Given the description of an element on the screen output the (x, y) to click on. 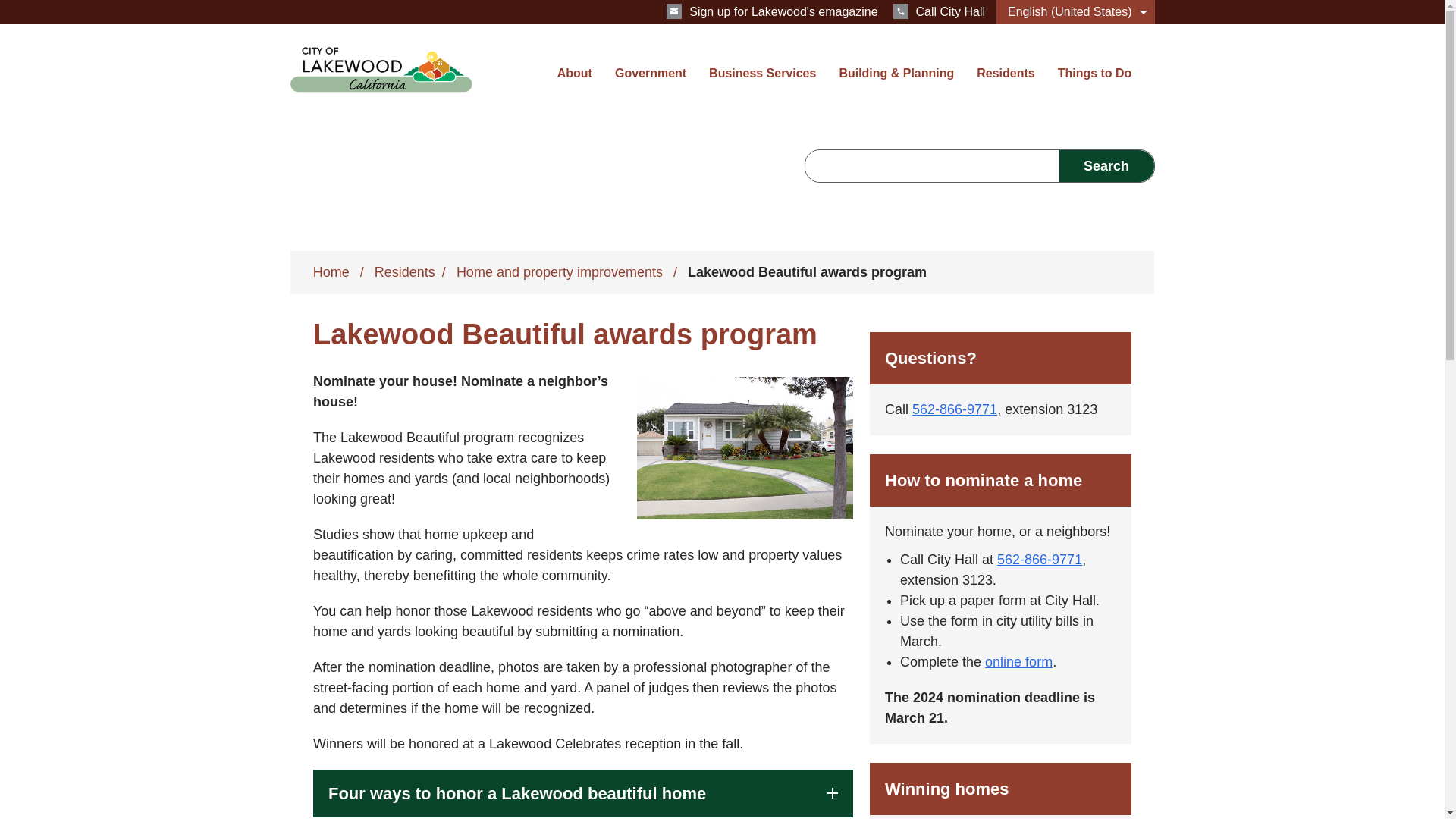
Search (1105, 165)
Search (1105, 165)
About (575, 82)
Call City Hall (939, 11)
Sign up for Lakewood's emagazine (771, 11)
City of Lakewood - Home - Logo (380, 69)
